Given the description of an element on the screen output the (x, y) to click on. 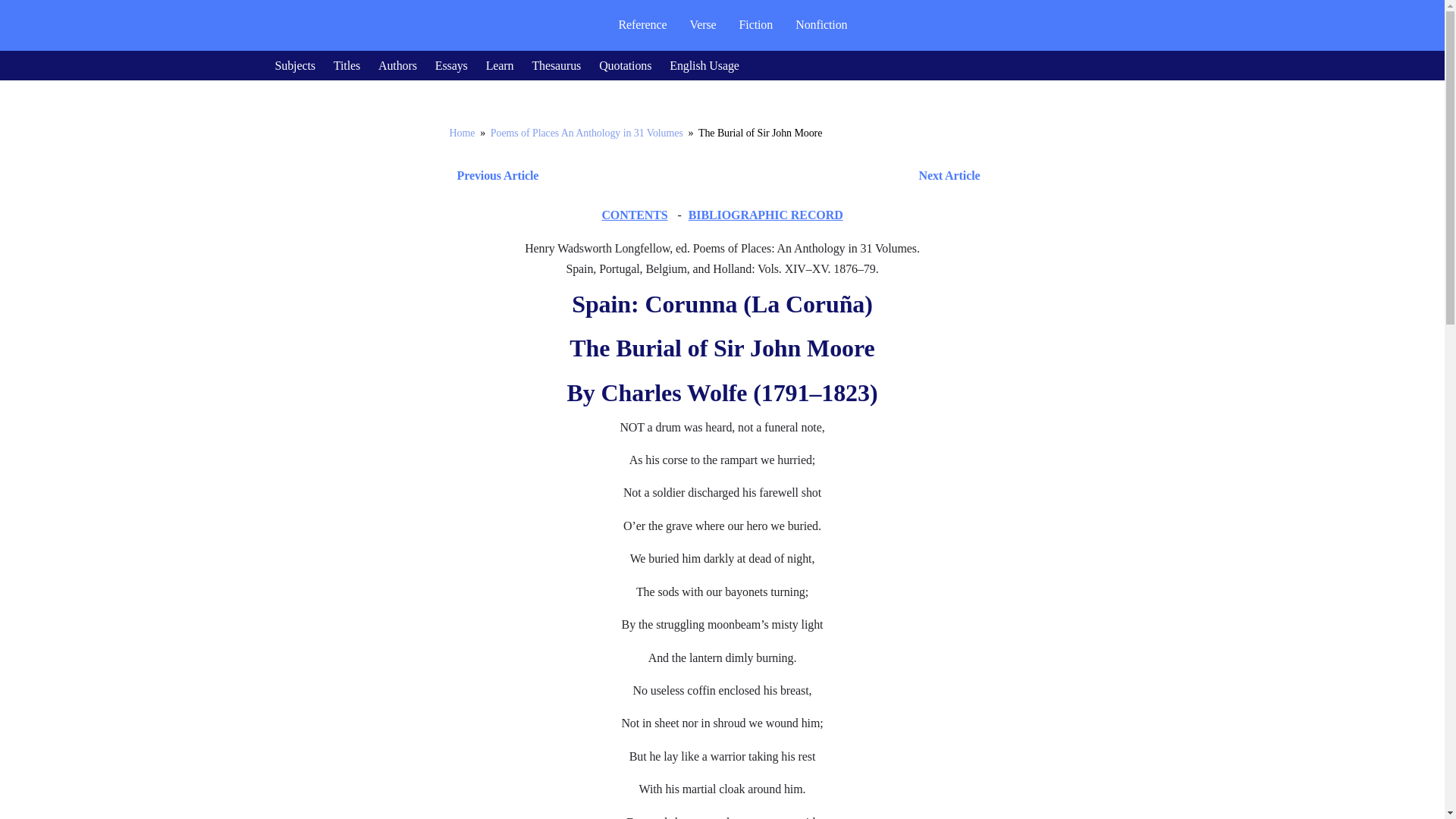
Authors (397, 65)
Reference (642, 24)
Subjects (294, 65)
Quotations (624, 65)
Verse (702, 24)
English Usage (704, 65)
Next Article (766, 175)
Nonfiction (821, 24)
Thesaurus (555, 65)
Essays (451, 65)
CONTENTS (633, 214)
Fiction (756, 24)
Previous Article (493, 175)
Home (461, 132)
BIBLIOGRAPHIC RECORD (765, 214)
